Given the description of an element on the screen output the (x, y) to click on. 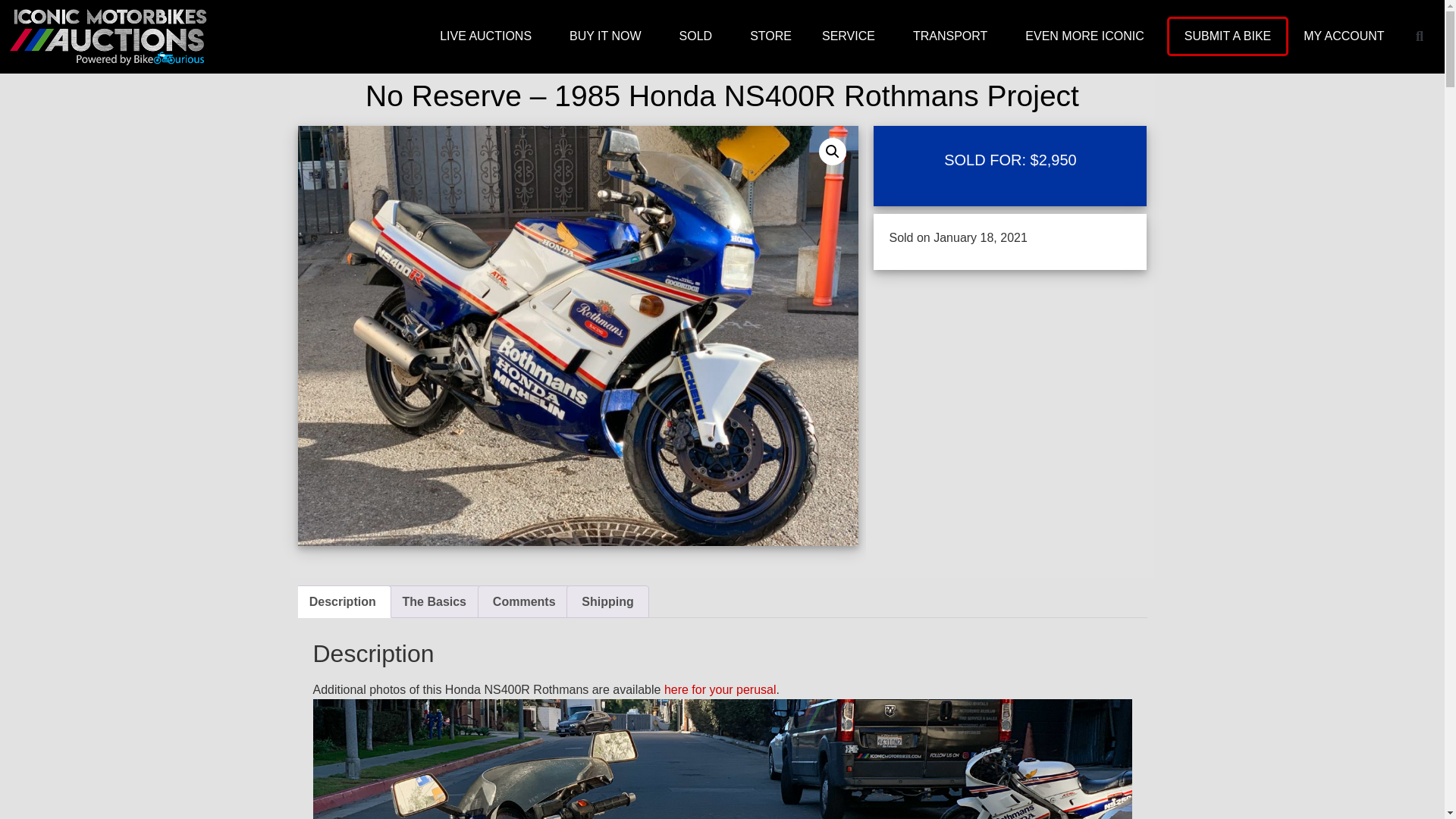
LIVE AUCTIONS (489, 36)
SUBMIT A BIKE (1227, 36)
SERVICE (852, 36)
TRANSPORT (954, 36)
STORE (770, 36)
BUY IT NOW (608, 36)
SOLD (699, 36)
EVEN MORE ICONIC (1088, 36)
MY ACCOUNT (1347, 36)
